Given the description of an element on the screen output the (x, y) to click on. 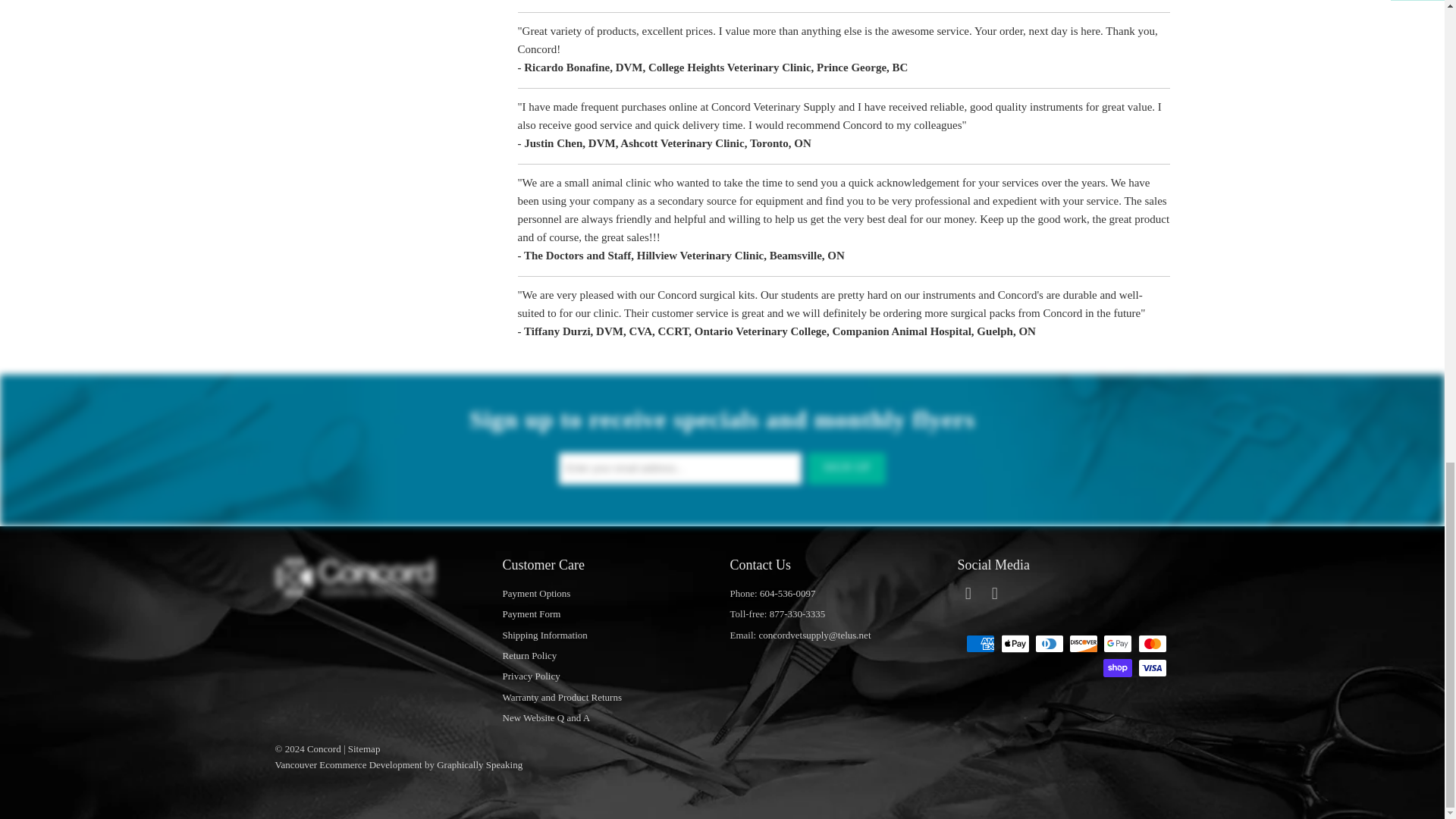
Sign Up (846, 468)
Concord Surgical on Twitter (967, 593)
Concord Surgical on Facebook (995, 593)
